Given the description of an element on the screen output the (x, y) to click on. 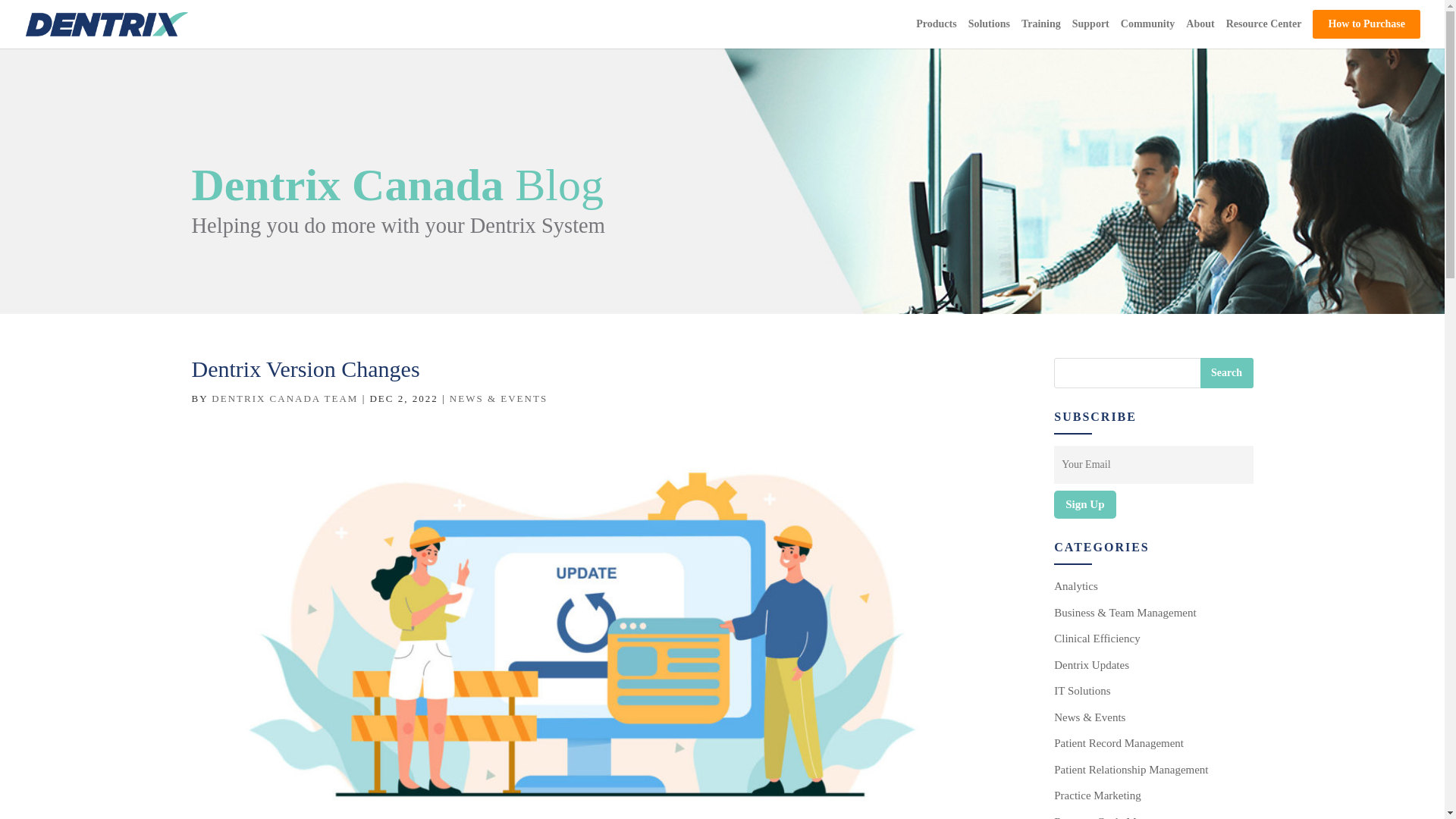
Posts by Dentrix Canada Team (284, 398)
Training (1041, 33)
Solutions (989, 33)
About (1200, 33)
Products (935, 33)
Search (1225, 372)
Support (1090, 33)
Sign Up (1084, 504)
Community (1147, 33)
